Given the description of an element on the screen output the (x, y) to click on. 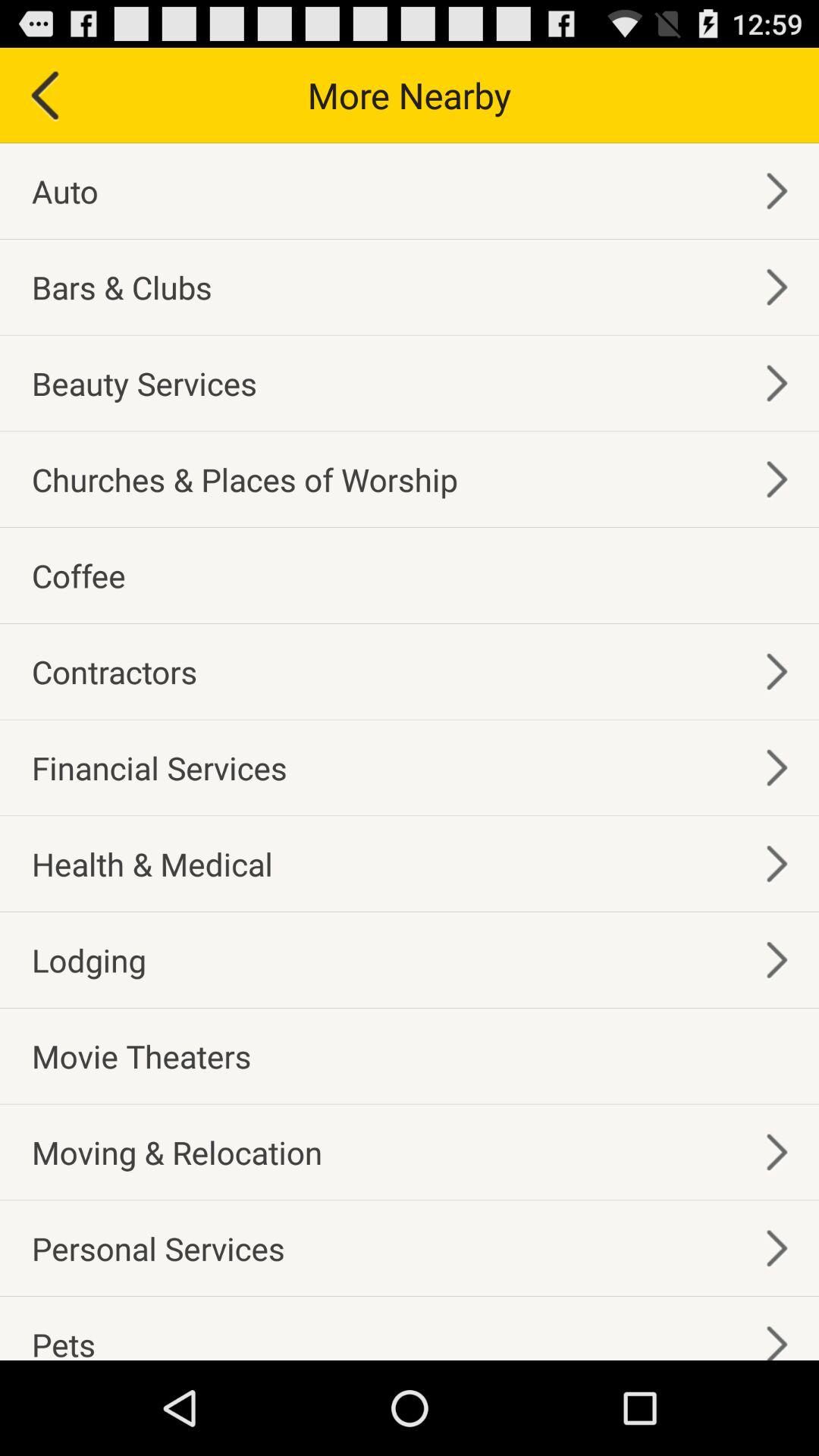
launch the churches places of (244, 479)
